Given the description of an element on the screen output the (x, y) to click on. 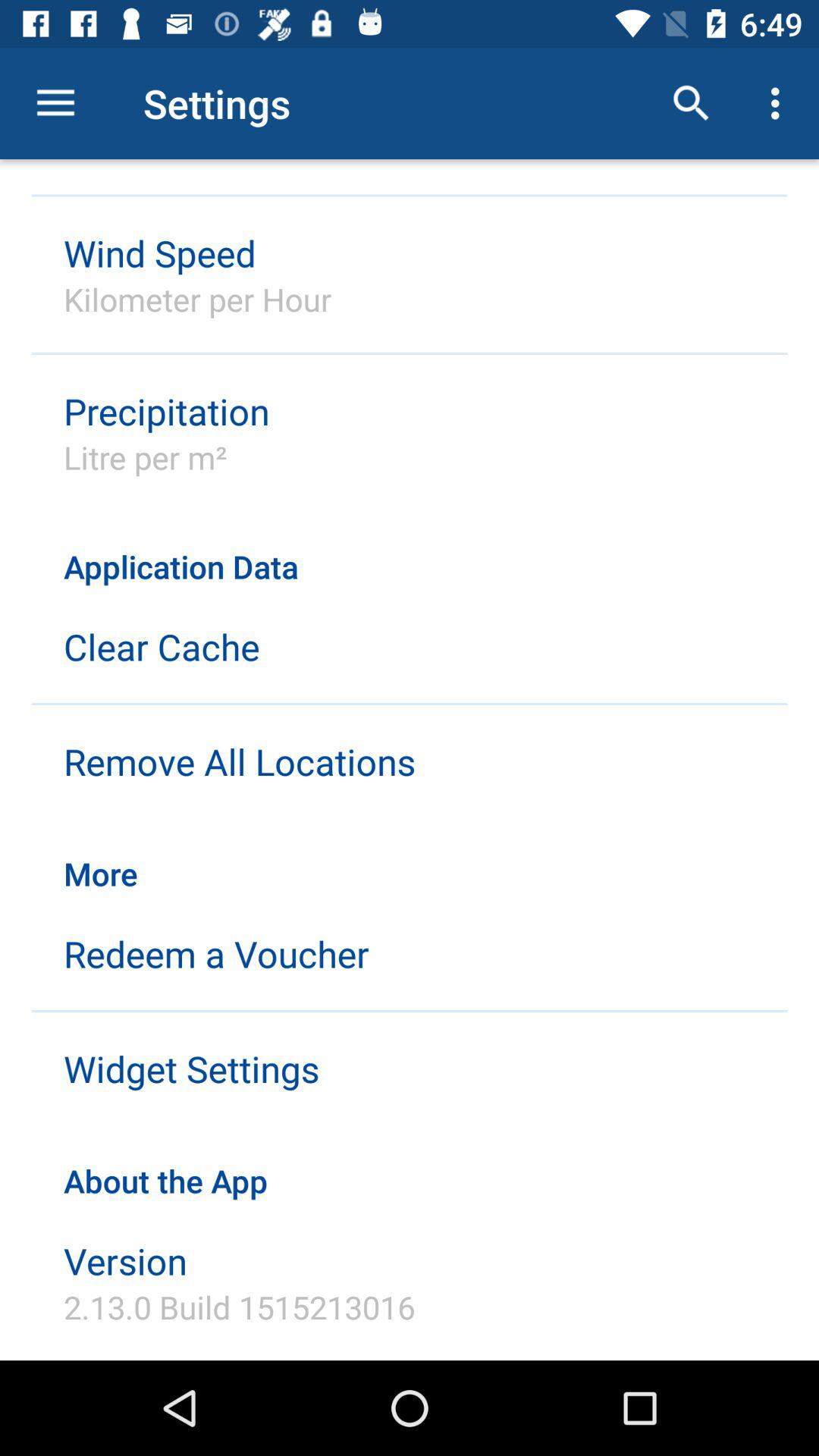
select the icon below precipitation icon (145, 456)
